Given the description of an element on the screen output the (x, y) to click on. 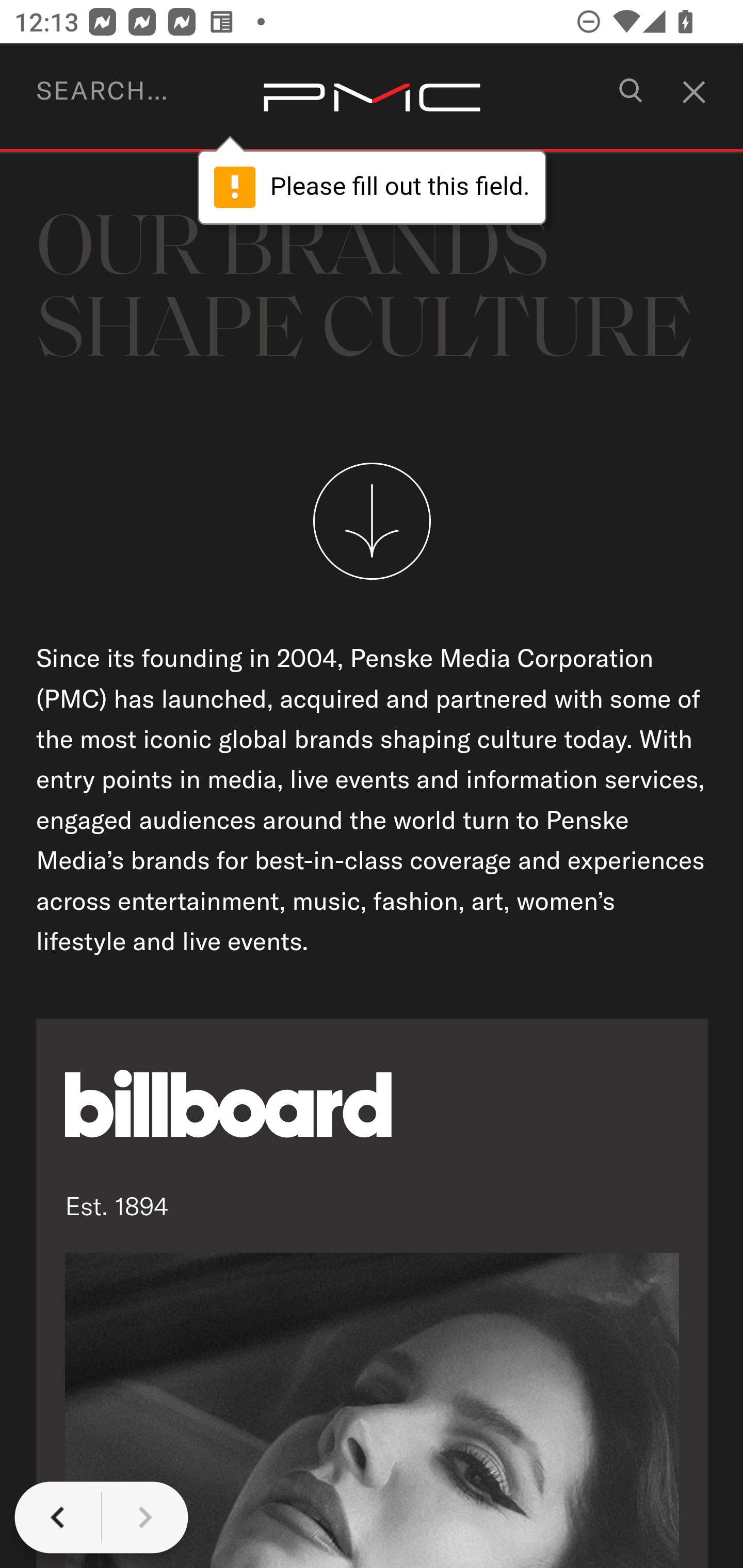
home (371, 98)
# (685, 85)
BRANDS (105, 96)
# (633, 98)
Est. 1894 Est. 1894 (372, 1292)
